Given the description of an element on the screen output the (x, y) to click on. 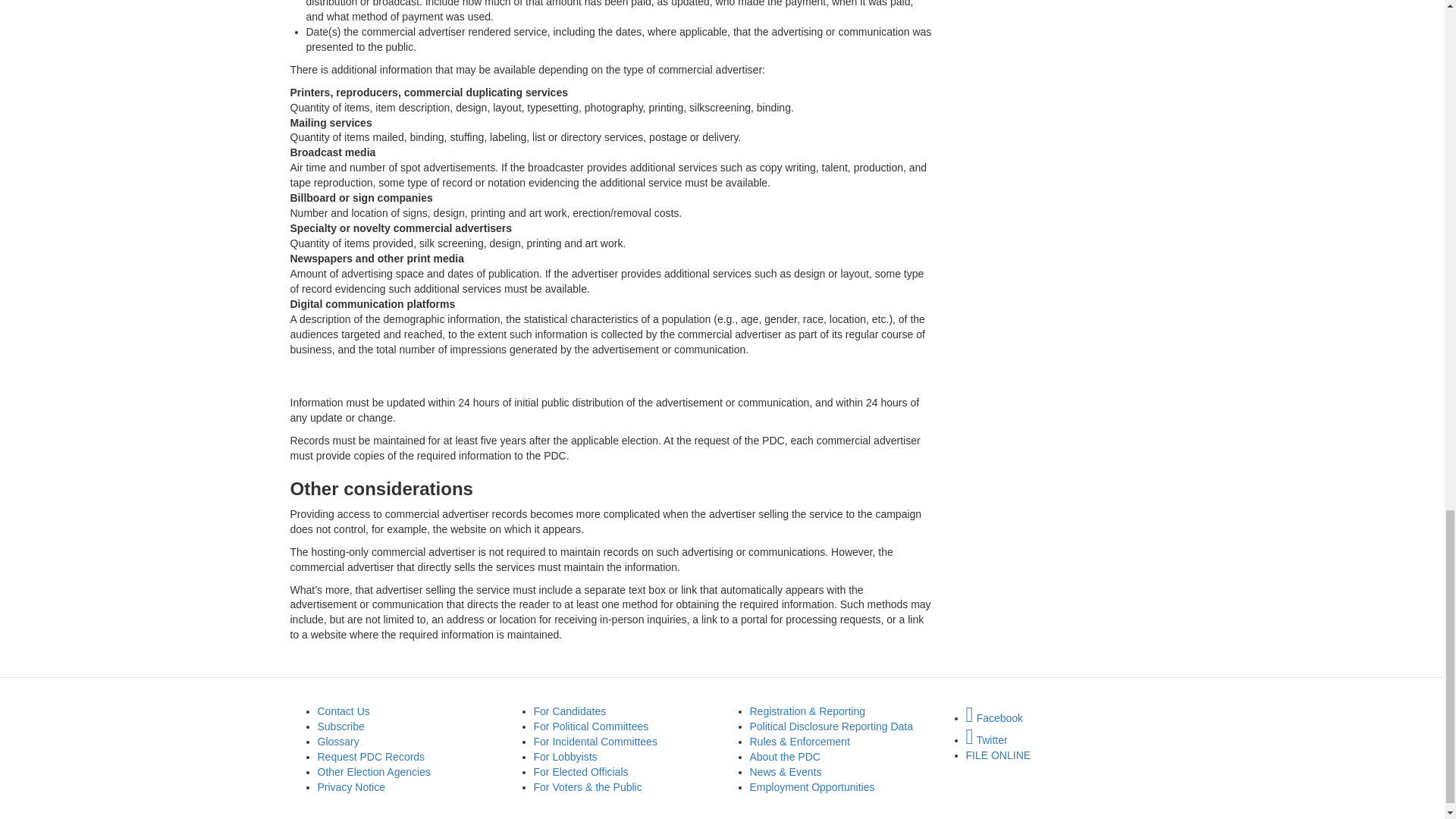
For Candidates (570, 711)
For Incidental Committees (596, 741)
Request PDC Records (371, 756)
Other Election Agencies (373, 771)
Privacy Notice (350, 787)
For Incidental Committees (596, 741)
For Political Committees (591, 726)
Contact Us (343, 711)
Other Resources  (373, 771)
For Candidates (570, 711)
